Given the description of an element on the screen output the (x, y) to click on. 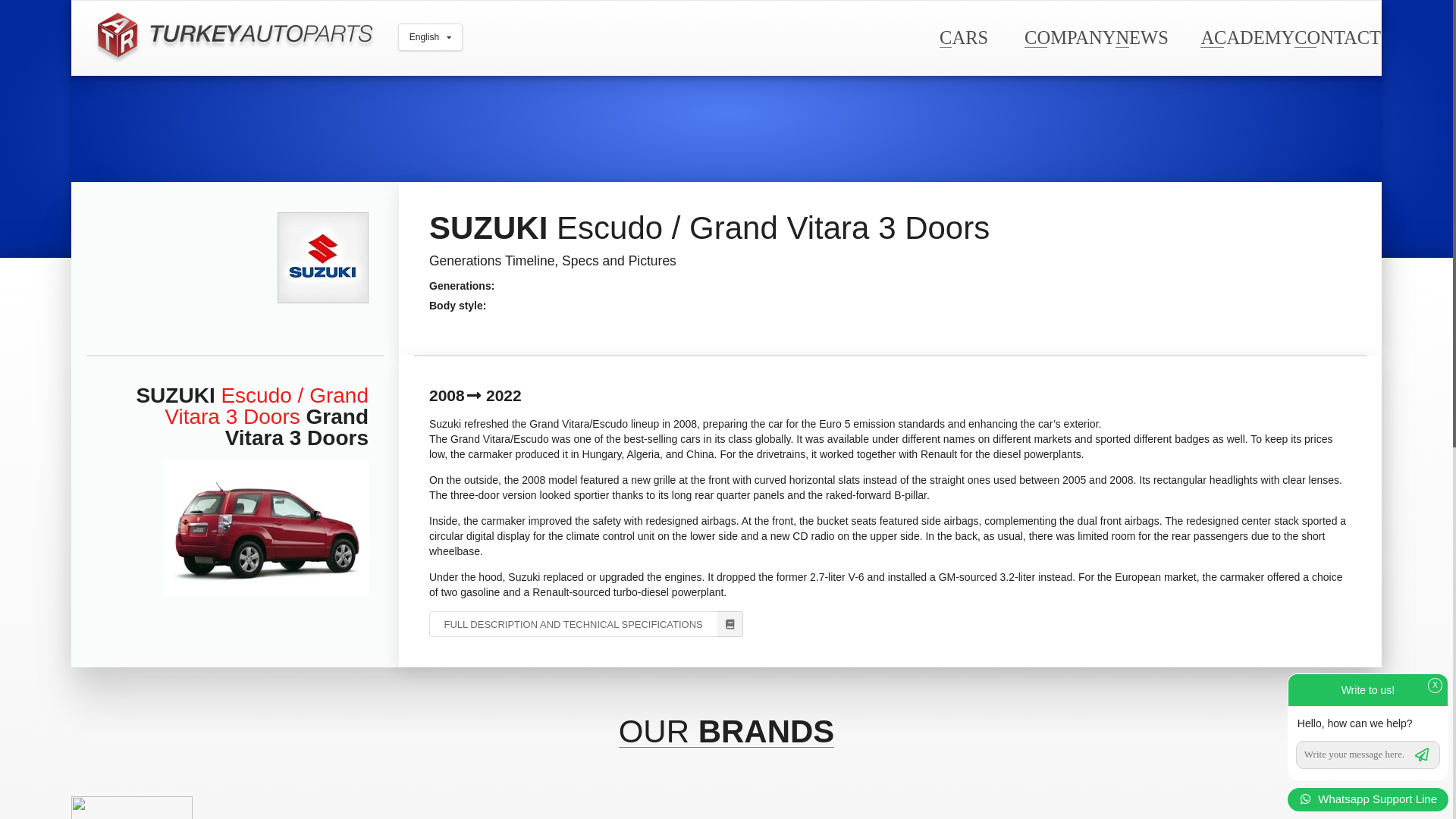
ACADEMY (1246, 37)
CONTACT (1337, 37)
CARS (963, 37)
NEWS (1141, 37)
FULL DESCRIPTION AND TECHNICAL SPECIFICATIONS (585, 623)
COMPANY (1070, 37)
